Given the description of an element on the screen output the (x, y) to click on. 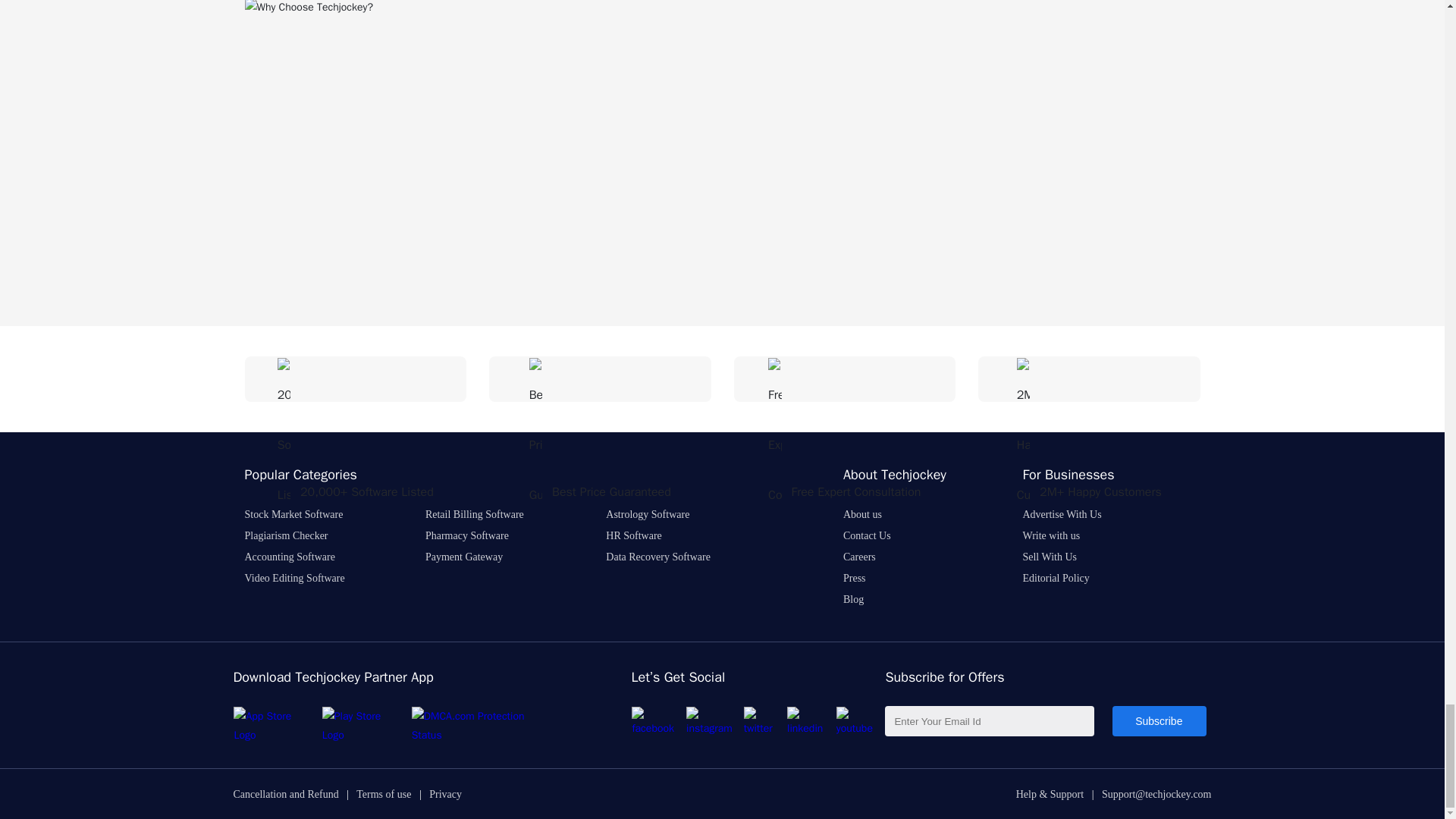
playstorelogo (361, 725)
DMCA.com Protection Status (481, 735)
appstorelogo (271, 725)
